Given the description of an element on the screen output the (x, y) to click on. 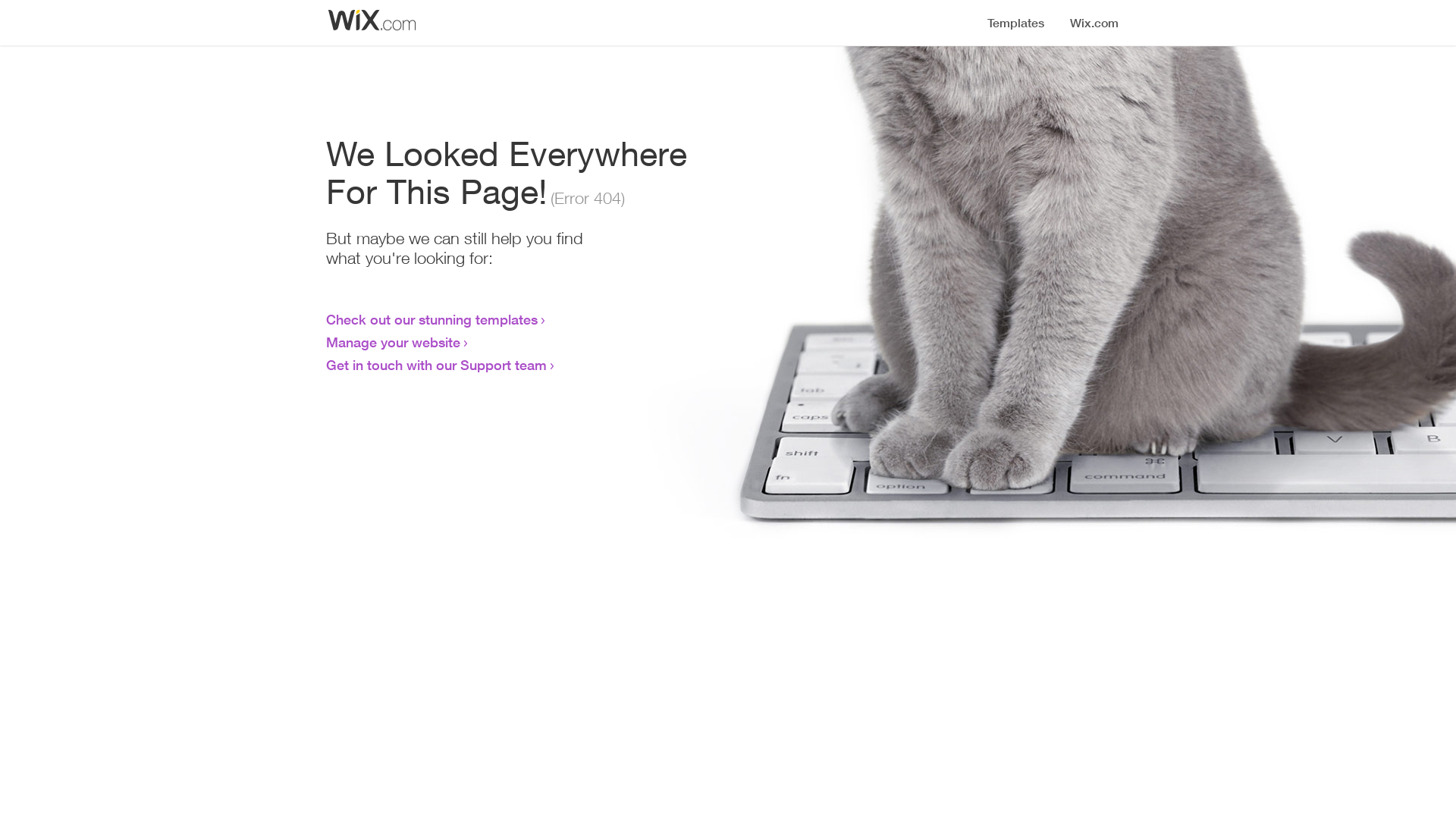
Manage your website Element type: text (393, 341)
Get in touch with our Support team Element type: text (436, 364)
Check out our stunning templates Element type: text (431, 318)
